Given the description of an element on the screen output the (x, y) to click on. 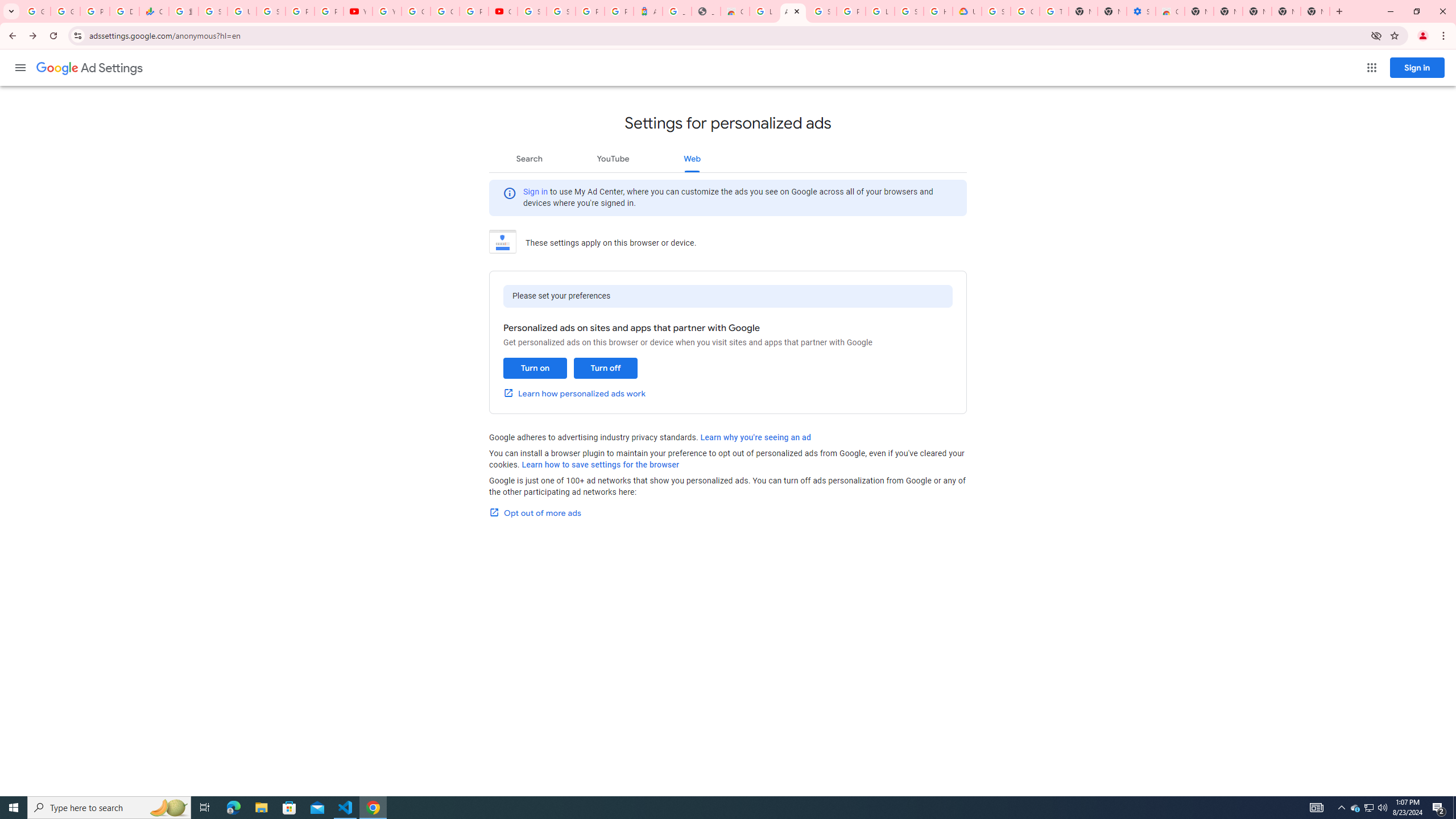
Turn cookies on or off - Computer - Google Account Help (1054, 11)
Turn ads based on your interests off. (605, 367)
